Given the description of an element on the screen output the (x, y) to click on. 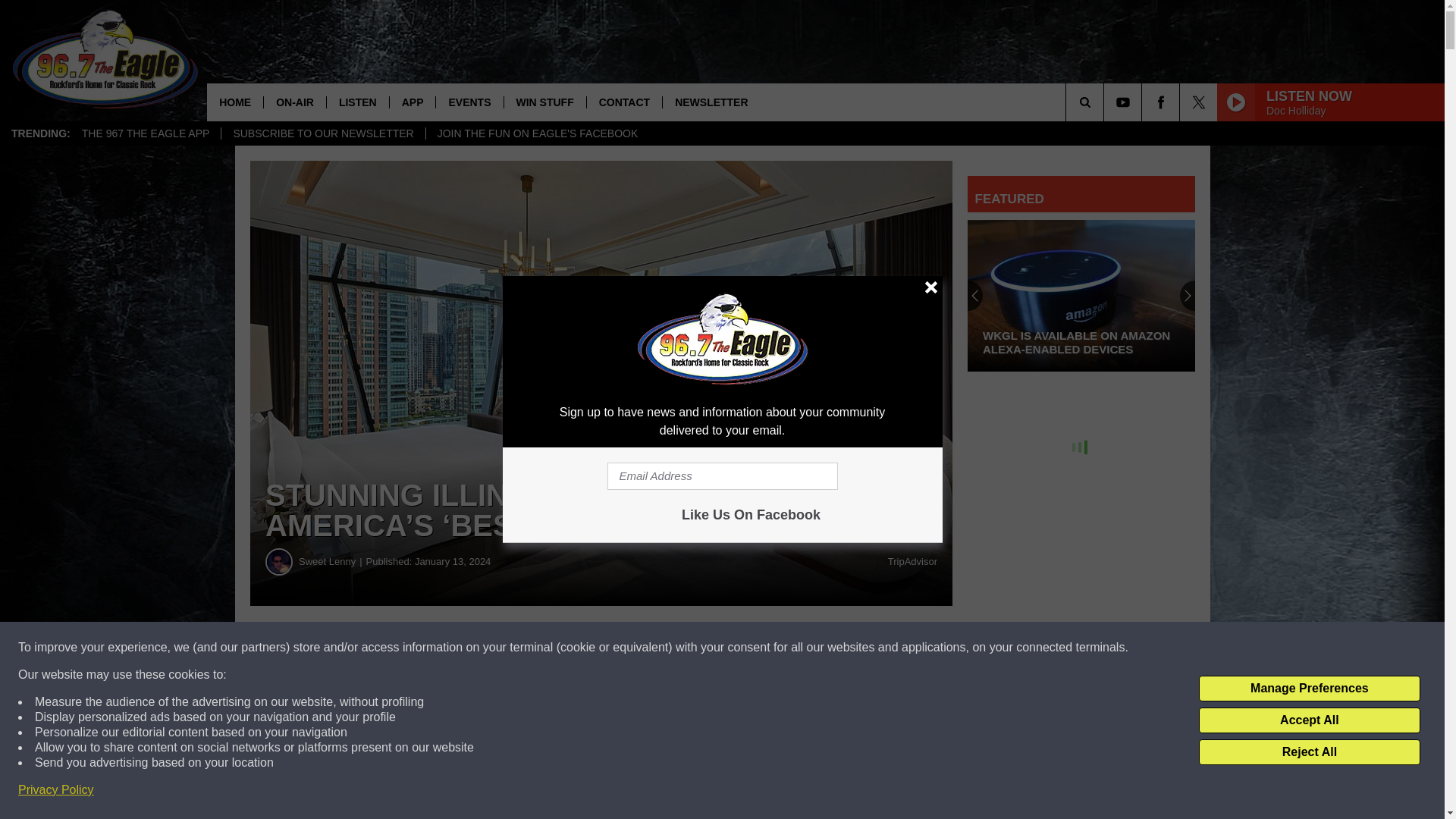
APP (411, 102)
LISTEN (357, 102)
HOME (234, 102)
Email Address (722, 475)
Share on Twitter (741, 647)
Reject All (1309, 751)
SEARCH (1106, 102)
Share on Facebook (460, 647)
ON-AIR (294, 102)
EVENTS (468, 102)
SUBSCRIBE TO OUR NEWSLETTER (323, 133)
JOIN THE FUN ON EAGLE'S FACEBOOK (537, 133)
WIN STUFF (544, 102)
Privacy Policy (55, 789)
Email Address (600, 806)
